Given the description of an element on the screen output the (x, y) to click on. 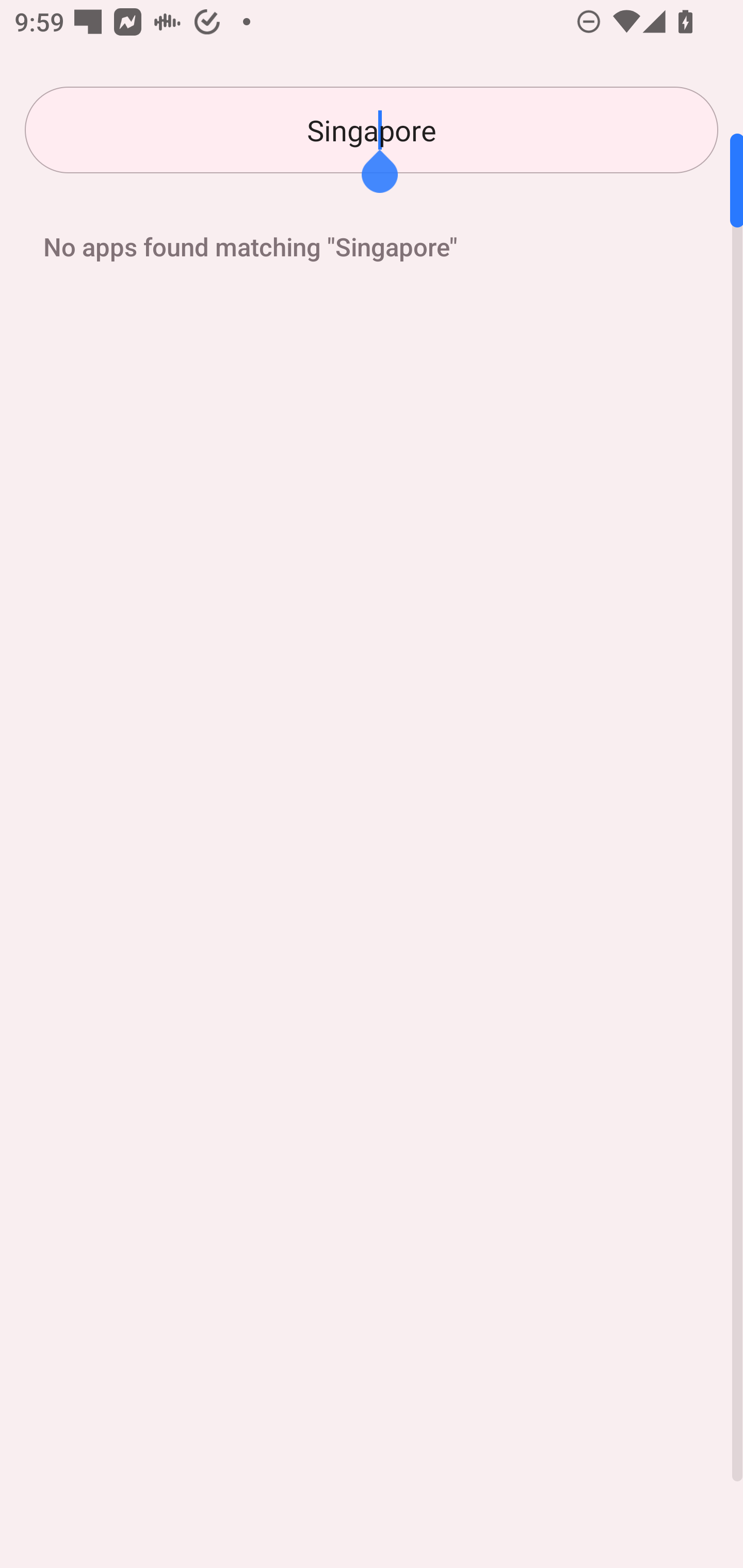
Singapore (371, 130)
